Given the description of an element on the screen output the (x, y) to click on. 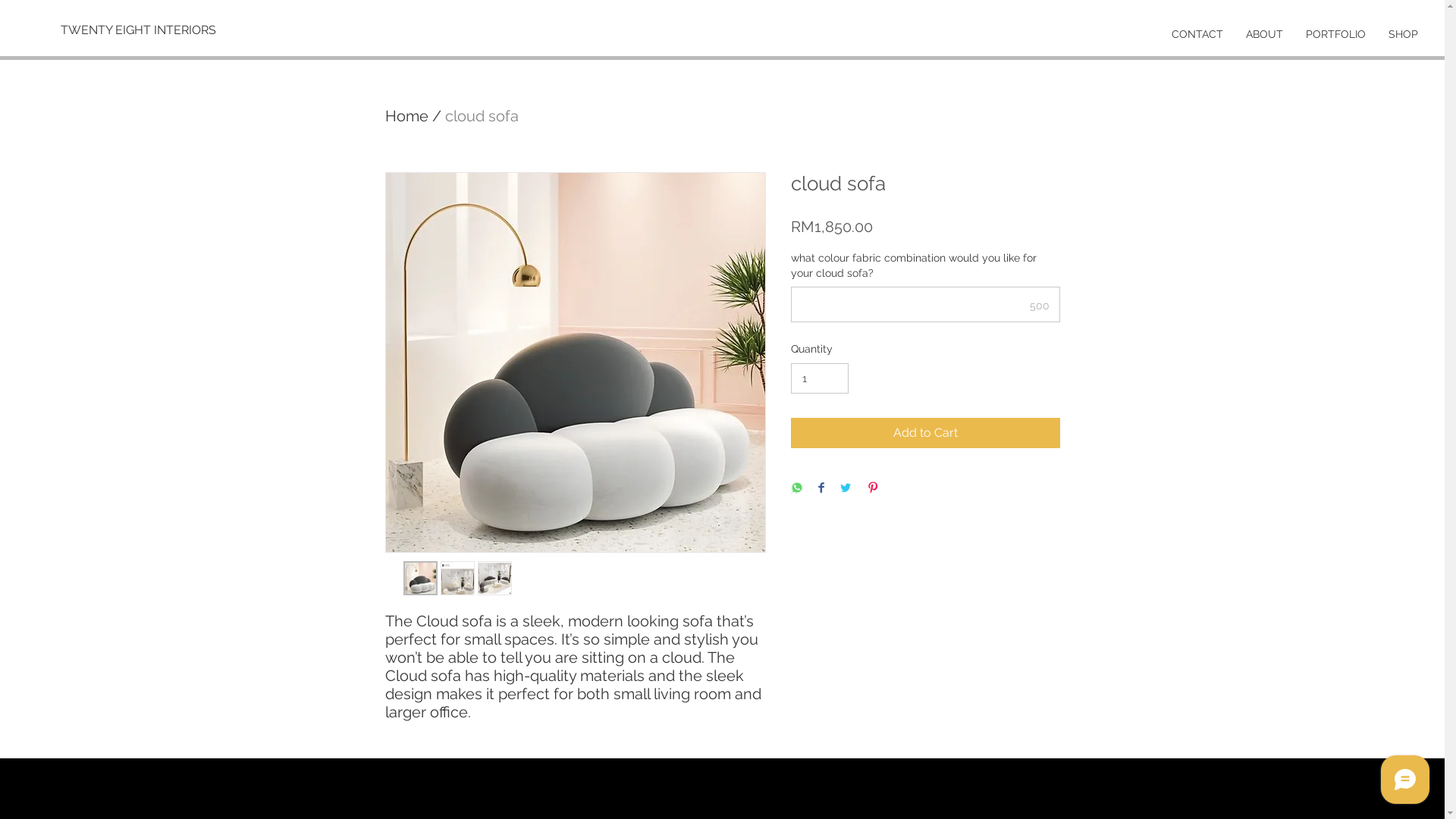
PORTFOLIO Element type: text (1335, 34)
ABOUT Element type: text (1264, 34)
Home Element type: text (406, 115)
cloud sofa Element type: text (480, 115)
Add to Cart Element type: text (924, 432)
CONTACT Element type: text (1197, 34)
TWENTY EIGHT INTERIORS Element type: text (138, 30)
SHOP Element type: text (1403, 34)
